Given the description of an element on the screen output the (x, y) to click on. 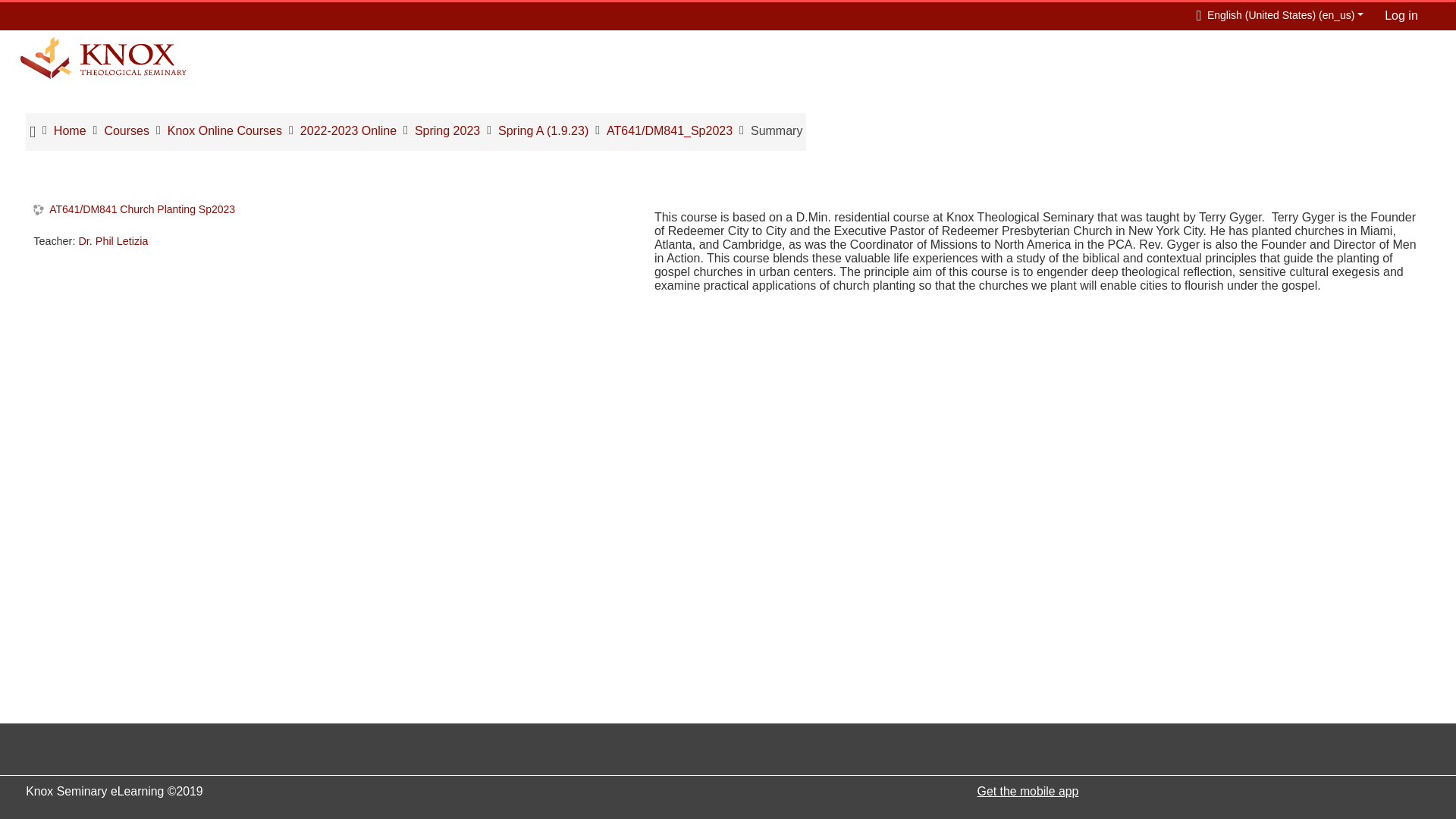
Language (1276, 14)
Spring 2023 (447, 130)
Dr. Phil Letizia (113, 241)
Knox Learning Portal (103, 57)
2022-2023 Online (347, 130)
Get the mobile app (1027, 790)
Home (69, 130)
Knox Online Courses (224, 130)
Courses (126, 130)
Log in (1401, 15)
